Given the description of an element on the screen output the (x, y) to click on. 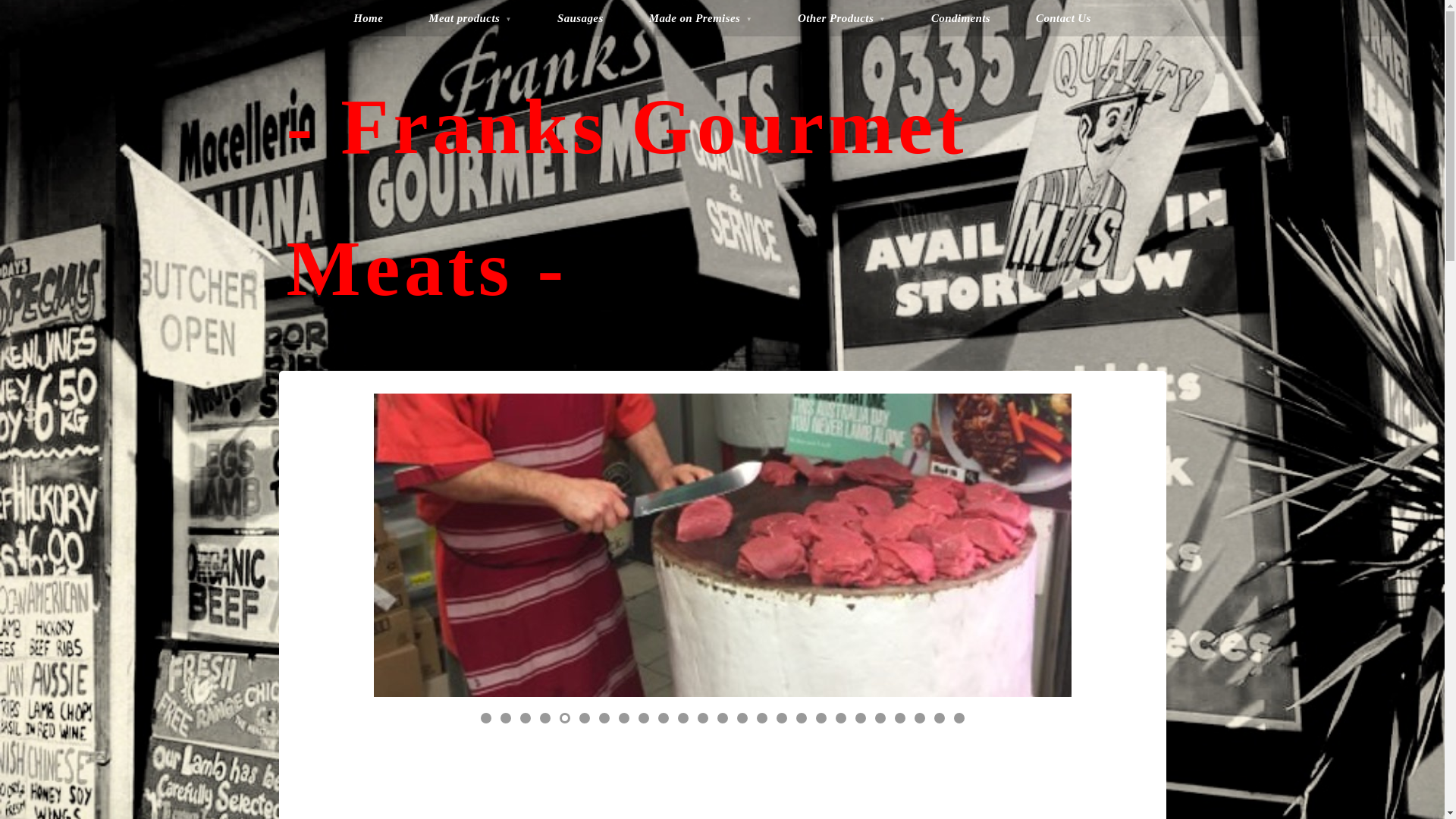
3 Element type: text (525, 717)
10 Element type: text (663, 717)
Condiments Element type: text (960, 18)
15 Element type: text (761, 717)
Contact Us Element type: text (1063, 18)
11 Element type: text (682, 717)
4 Element type: text (544, 717)
Sausages Element type: text (580, 18)
8 Element type: text (623, 717)
24 Element type: text (939, 717)
25 Element type: text (958, 717)
16 Element type: text (781, 717)
21 Element type: text (880, 717)
22 Element type: text (899, 717)
5 Element type: text (564, 717)
12 Element type: text (702, 717)
14 Element type: text (742, 717)
2 Element type: text (505, 717)
23 Element type: text (919, 717)
20 Element type: text (860, 717)
9 Element type: text (643, 717)
17 Element type: text (801, 717)
Home Element type: text (367, 18)
13 Element type: text (722, 717)
- Franks Gourmet Meats - Element type: text (626, 196)
6 Element type: text (584, 717)
19 Element type: text (840, 717)
1 Element type: text (485, 717)
18 Element type: text (820, 717)
7 Element type: text (604, 717)
